Given the description of an element on the screen output the (x, y) to click on. 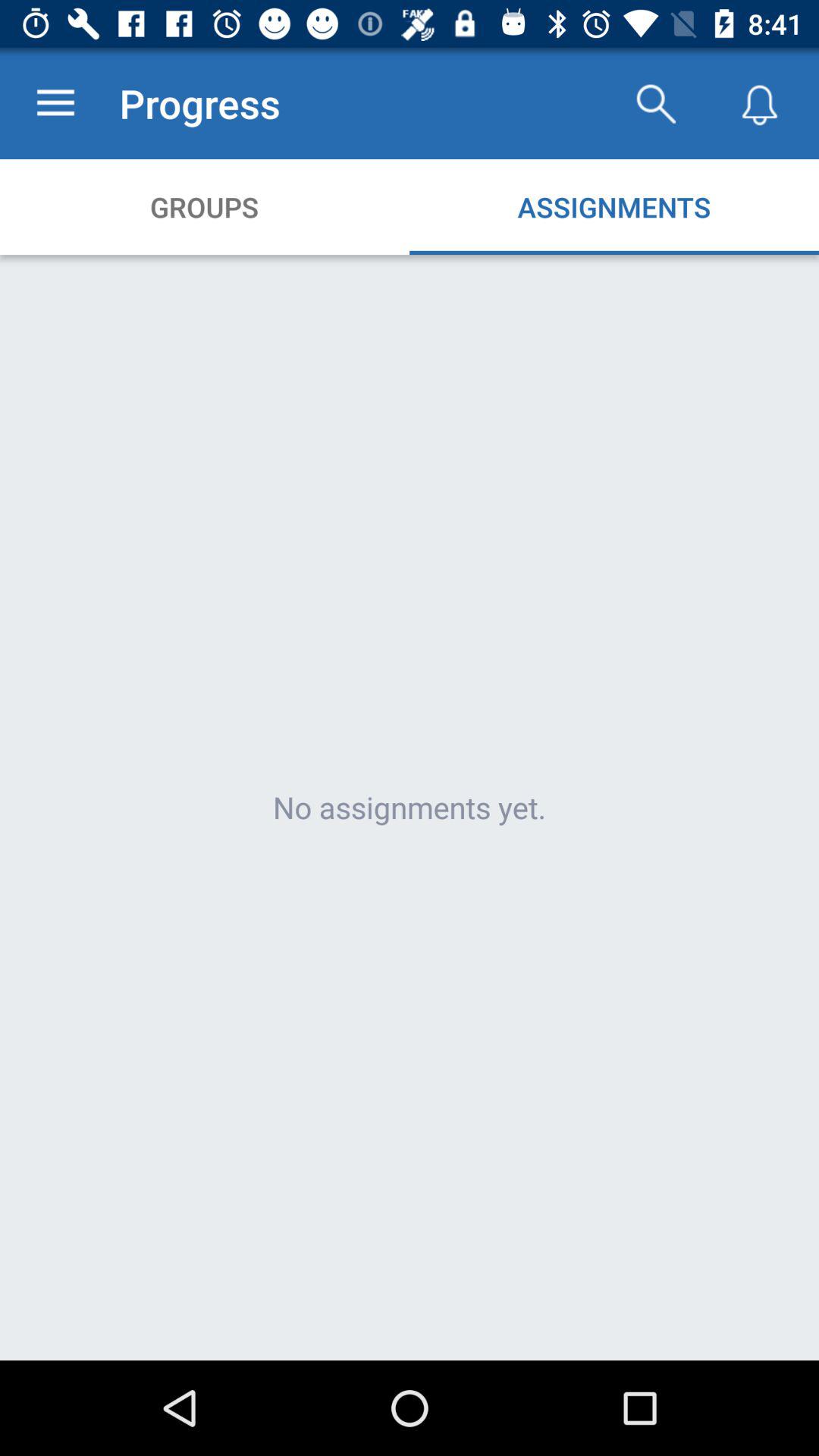
turn off app to the right of progress (655, 103)
